Given the description of an element on the screen output the (x, y) to click on. 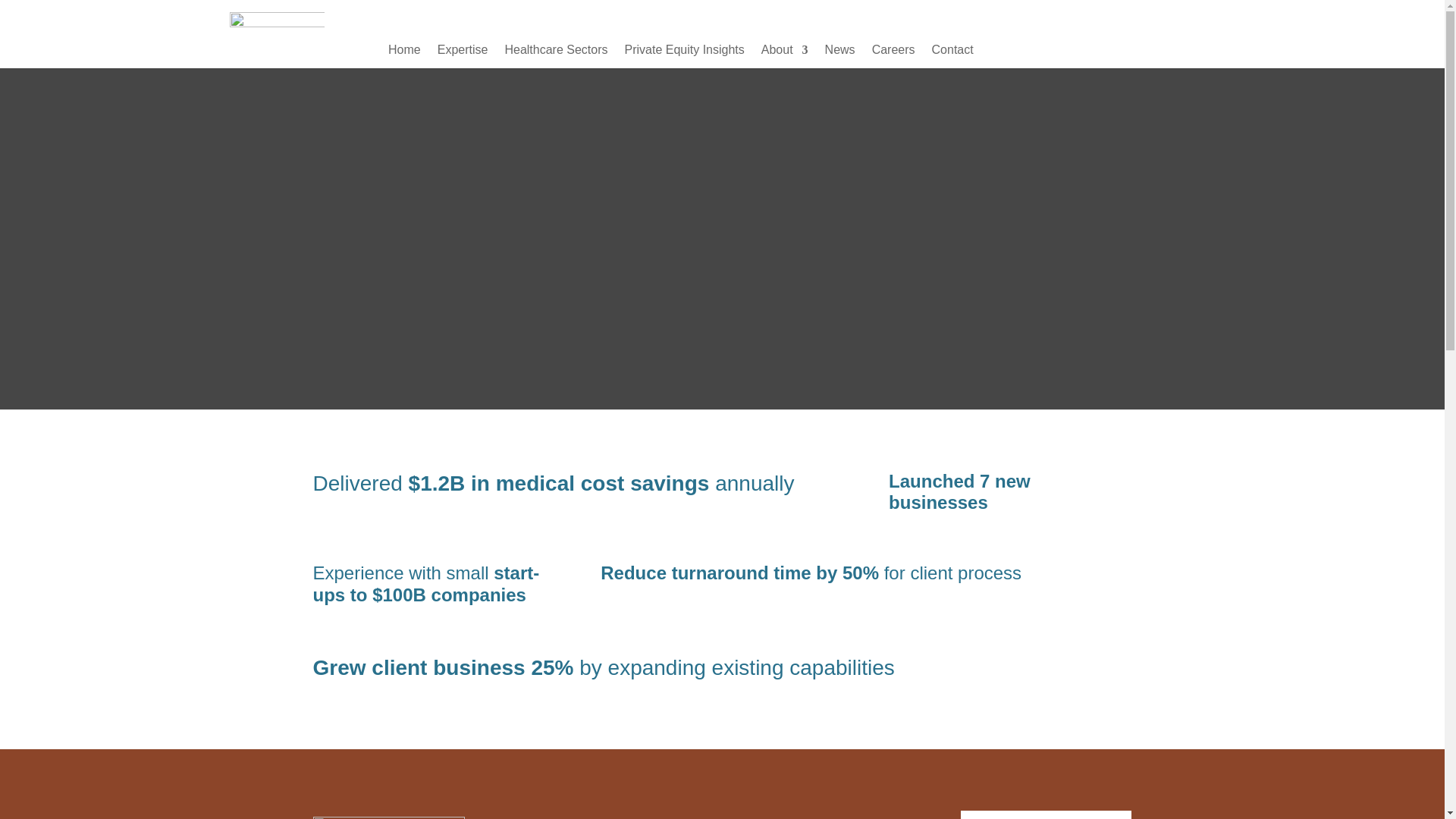
Expertise (462, 53)
Home (404, 53)
Healthcare Sectors (555, 53)
News (840, 53)
WSG Logo 147x250 (277, 39)
Careers (893, 53)
Contact (952, 53)
Private Equity Insights (684, 53)
About (784, 53)
